Given the description of an element on the screen output the (x, y) to click on. 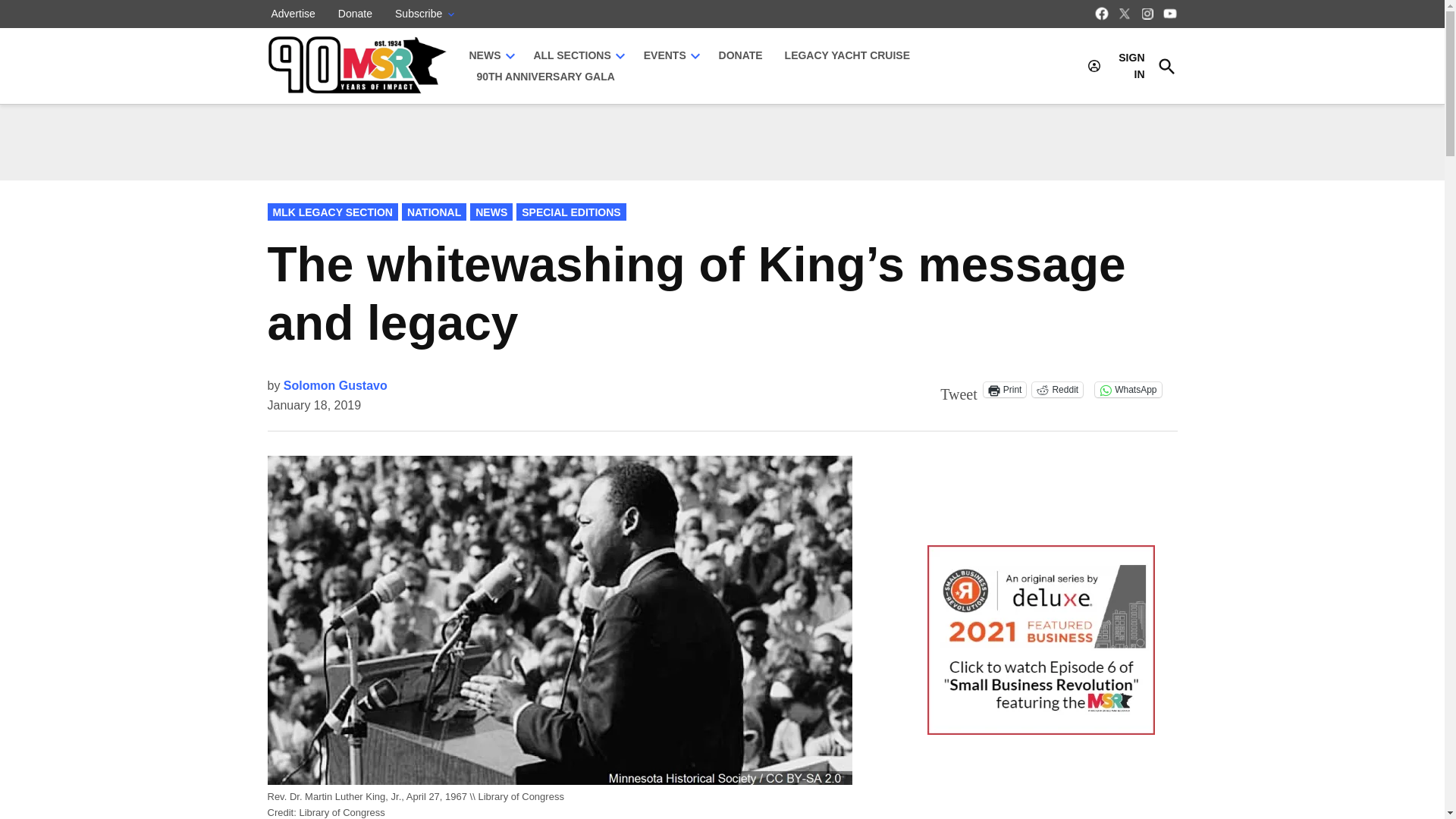
Click to print (1005, 389)
Click to share on WhatsApp (1127, 389)
Click to share on Reddit (1057, 389)
